Given the description of an element on the screen output the (x, y) to click on. 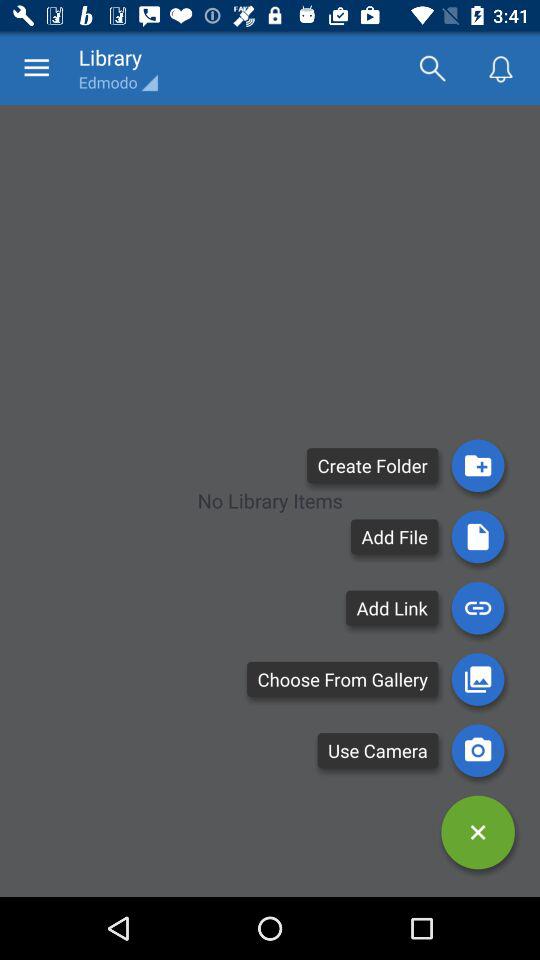
create new folder (478, 465)
